Given the description of an element on the screen output the (x, y) to click on. 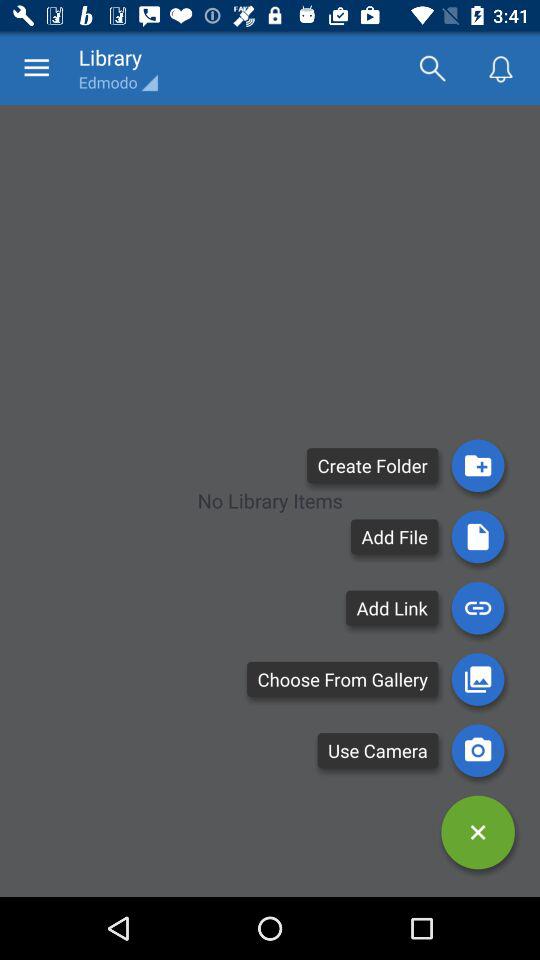
create new folder (478, 465)
